Given the description of an element on the screen output the (x, y) to click on. 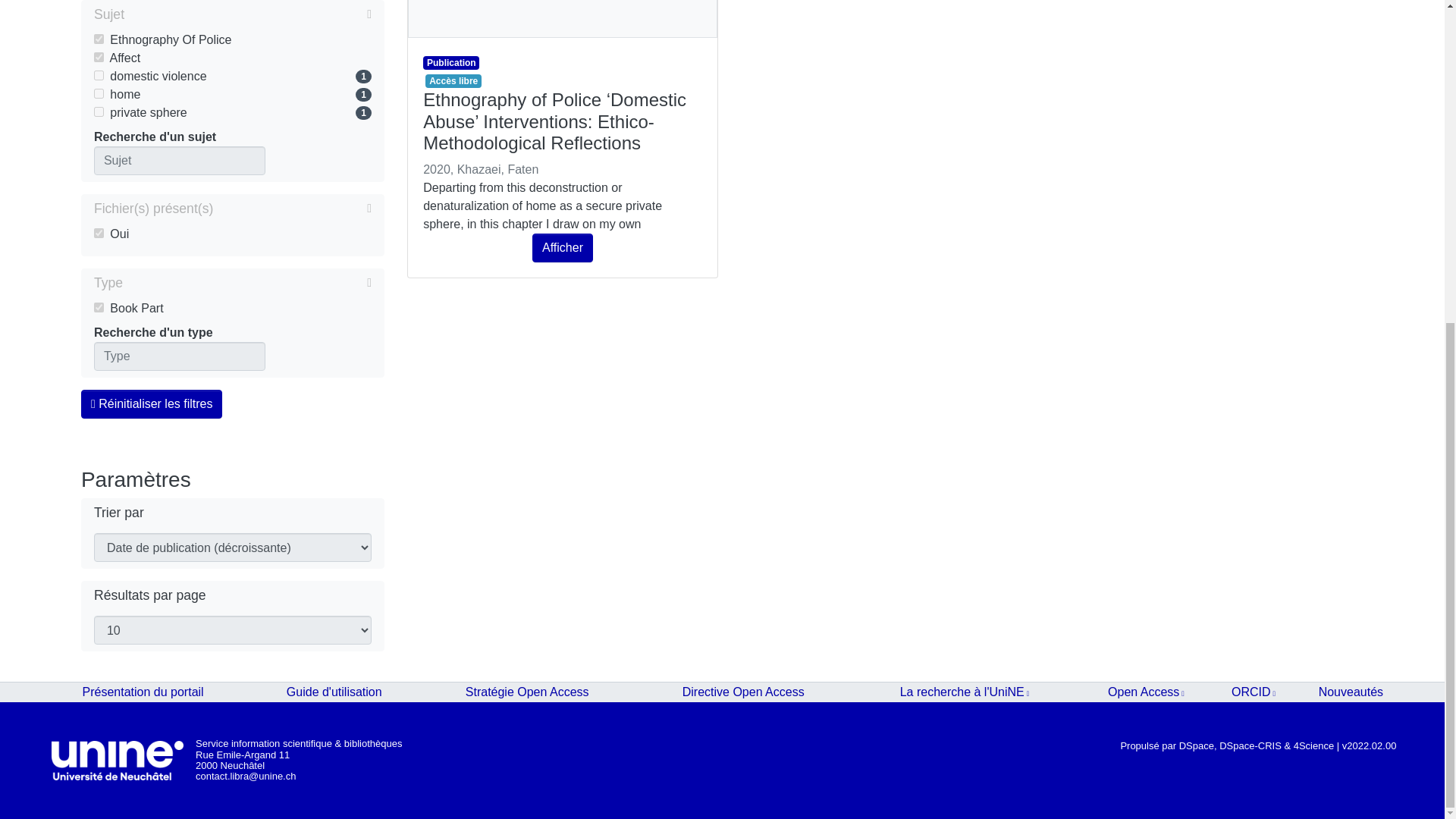
Sujet (232, 15)
on (98, 93)
Filtre (291, 208)
on (98, 307)
on (98, 39)
on (98, 112)
on (98, 75)
Filtre (247, 13)
Ethnography Of Police (232, 40)
on (98, 233)
Filtre (246, 282)
on (98, 57)
